Given the description of an element on the screen output the (x, y) to click on. 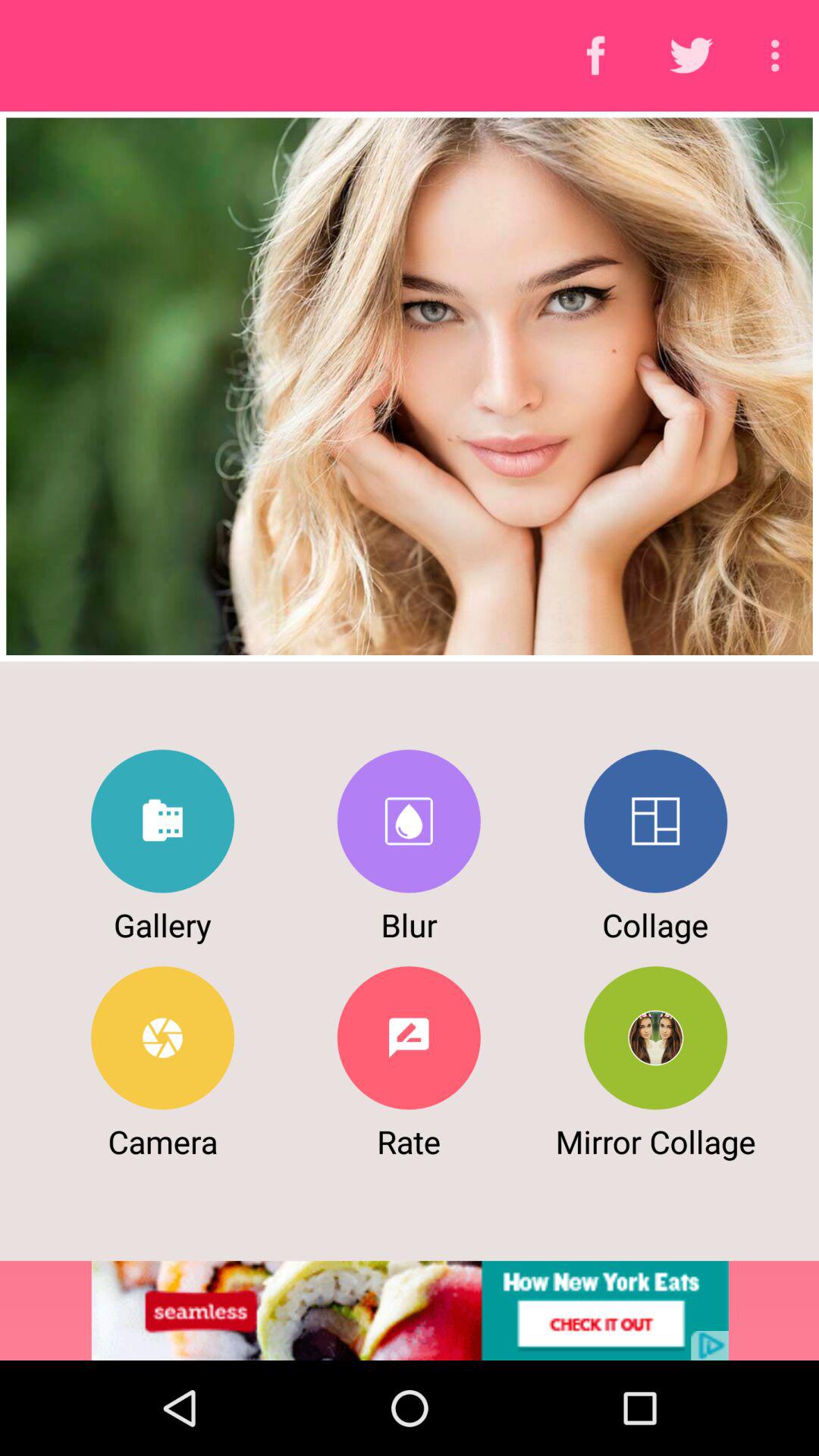
rate button (408, 1037)
